Given the description of an element on the screen output the (x, y) to click on. 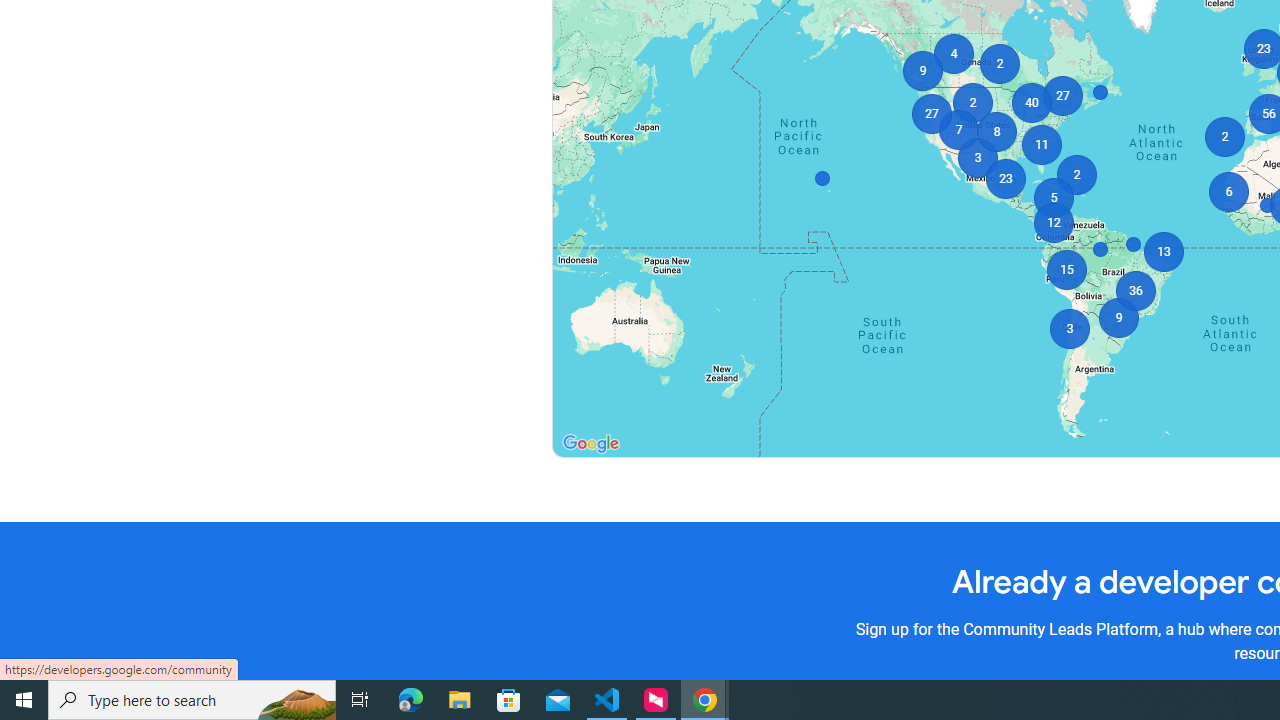
36 (1134, 290)
3 (1069, 328)
12 (1052, 223)
2 (1076, 174)
5 (1052, 197)
Open this area in Google Maps (opens a new window) (590, 444)
15 (1065, 269)
9 (922, 70)
13 (1163, 251)
27 (1061, 95)
23 (1005, 178)
7 (958, 129)
Google (590, 444)
4 (953, 53)
